Given the description of an element on the screen output the (x, y) to click on. 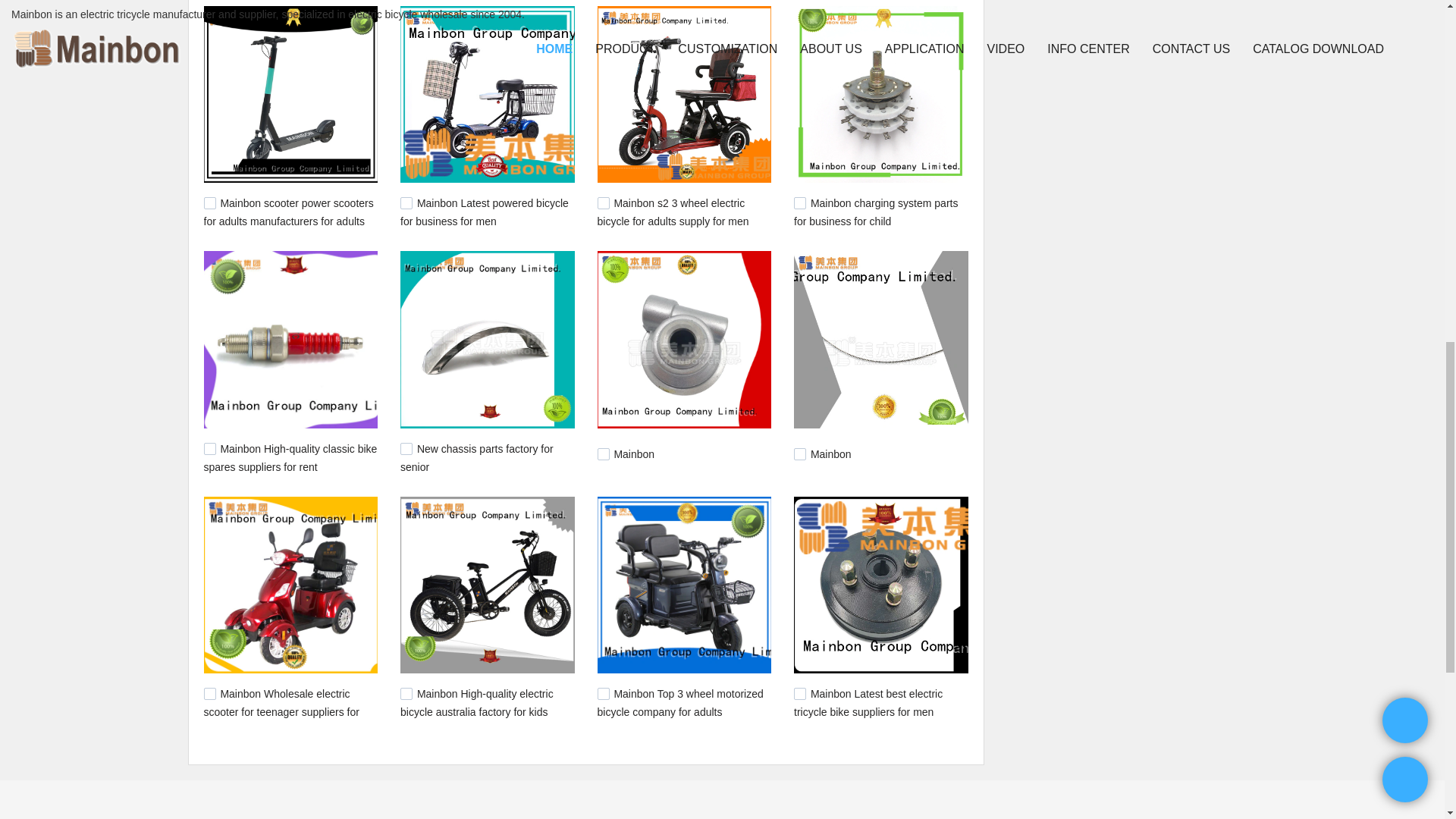
Mainbon charging system parts for business for child (875, 212)
Mainbon Latest best electric tricycle bike suppliers for men (867, 702)
Mainbon Top 3 wheel motorized bicycle company for adults (679, 702)
1035 (799, 693)
New chassis parts factory for senior (476, 458)
2835 (406, 693)
Mainbon (632, 453)
5078 (603, 203)
5072 (799, 203)
4312 (209, 693)
4796 (603, 453)
4565 (799, 453)
5047 (209, 449)
